Given the description of an element on the screen output the (x, y) to click on. 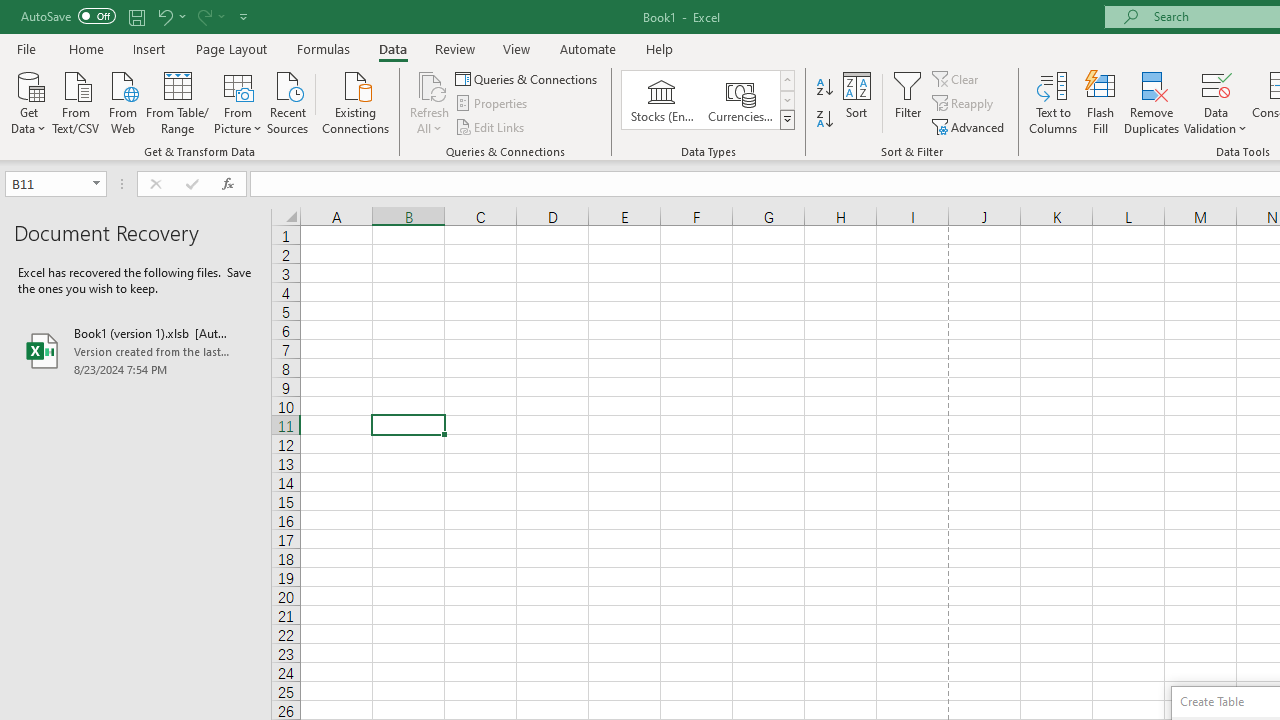
Edit Links (491, 126)
Reapply (964, 103)
Existing Connections (355, 101)
Currencies (English) (740, 100)
